Given the description of an element on the screen output the (x, y) to click on. 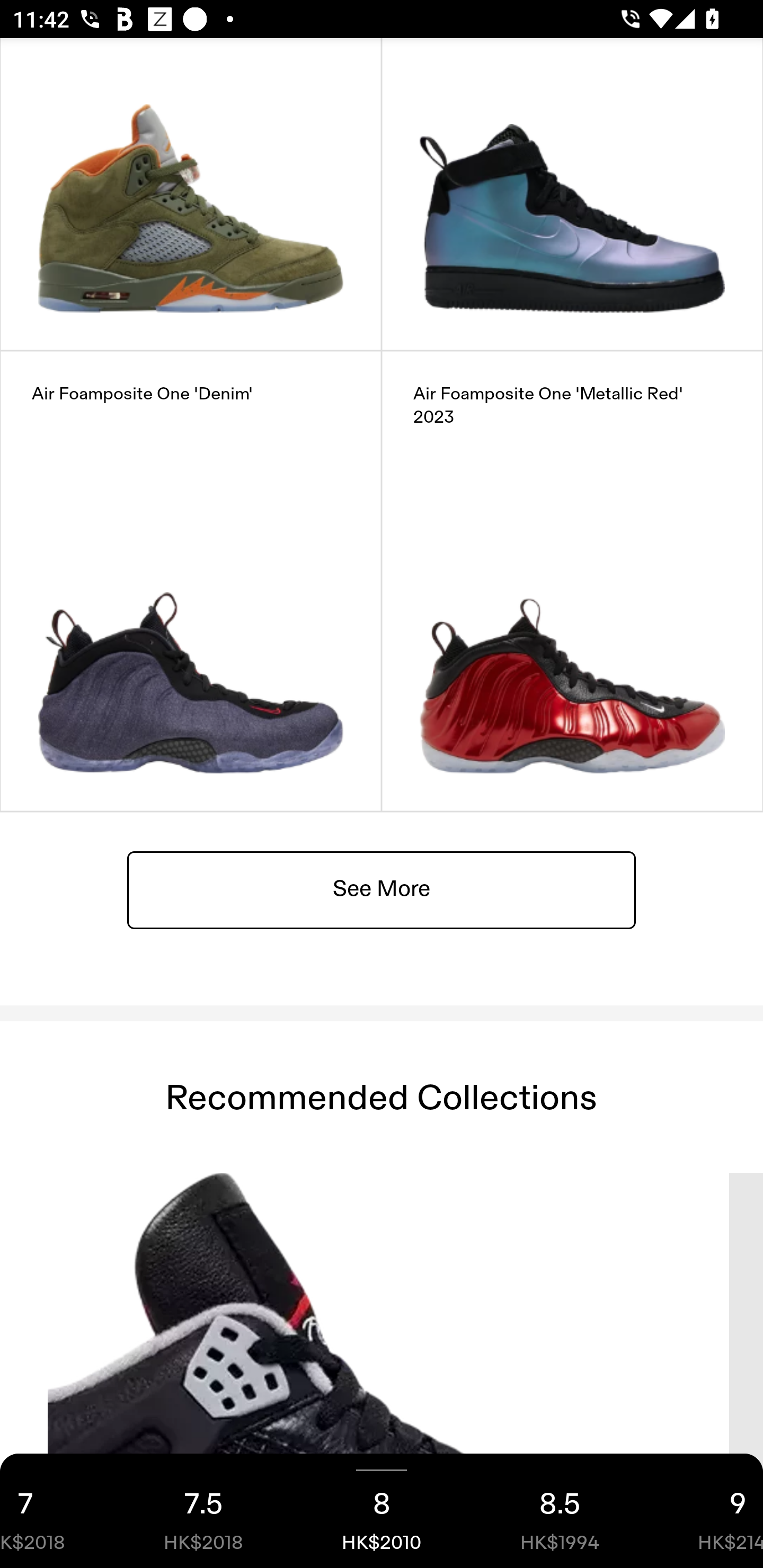
Air Foamposite One 'Denim' (190, 581)
Air Foamposite One 'Metallic Red' 2023 (572, 581)
See More (381, 889)
7 HK$2018 (57, 1510)
7.5 HK$2018 (203, 1510)
8 HK$2010 (381, 1510)
8.5 HK$1994 (559, 1510)
9 HK$2144 (705, 1510)
